Given the description of an element on the screen output the (x, y) to click on. 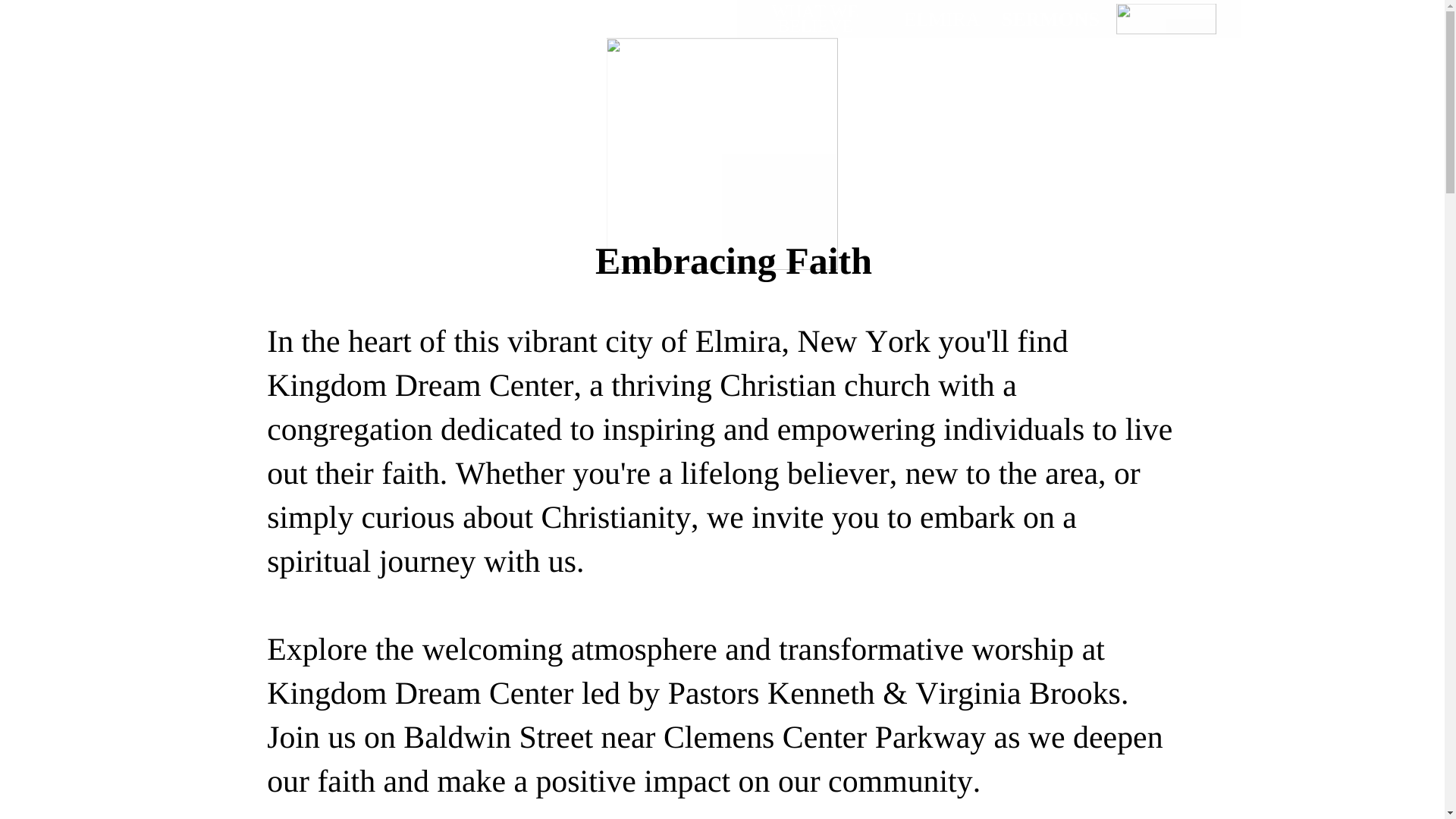
DIRECTIONS (432, 19)
HOME (288, 19)
WHAT WE BELIEVE (815, 19)
SERMONS (1050, 19)
ELMIRA (941, 19)
MEET THE PASTOR (636, 19)
